Given the description of an element on the screen output the (x, y) to click on. 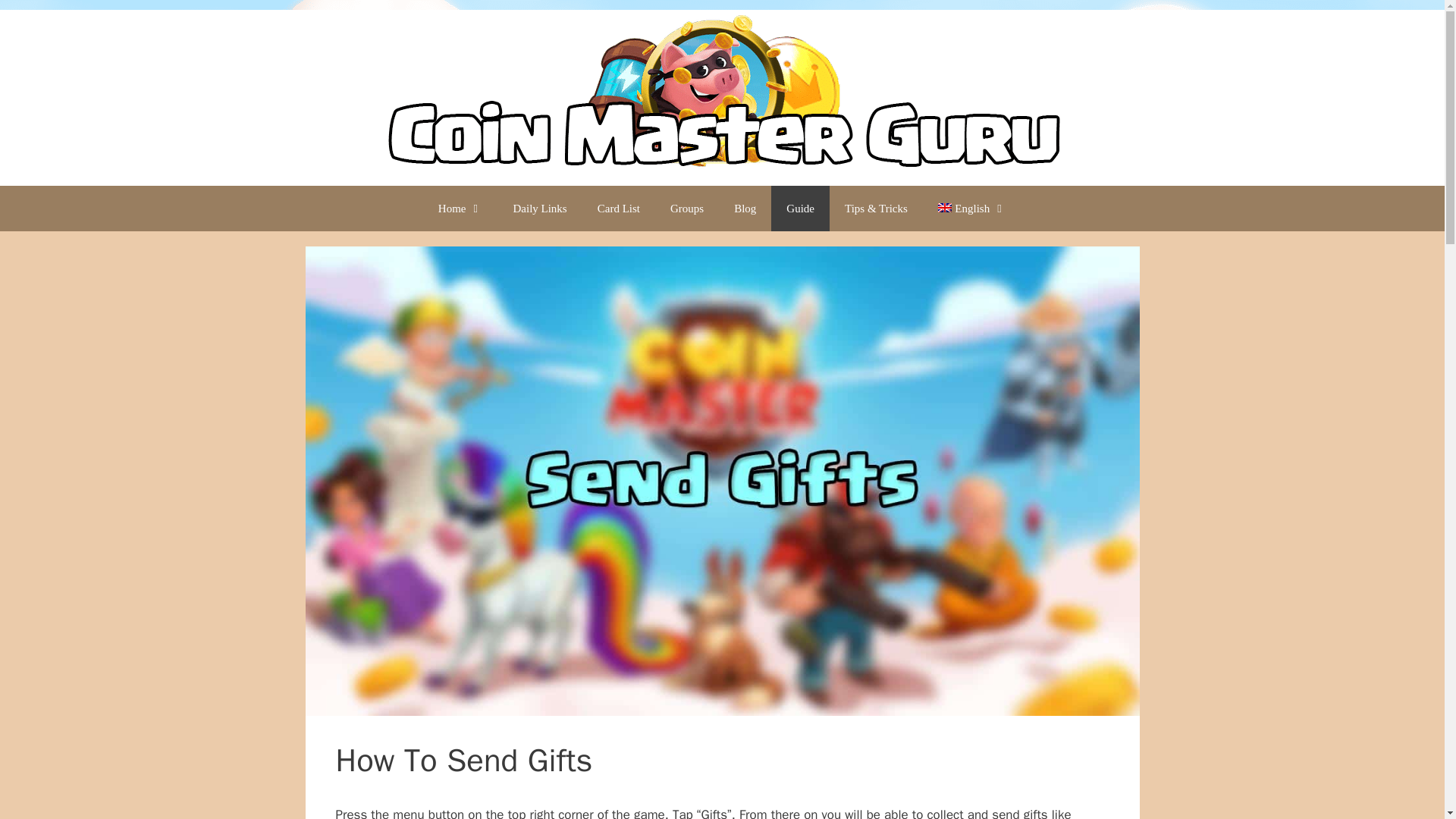
English (972, 207)
Groups (687, 207)
Daily Links (538, 207)
Card List (618, 207)
English (972, 207)
Guide (800, 207)
Blog (745, 207)
Home (460, 207)
